Given the description of an element on the screen output the (x, y) to click on. 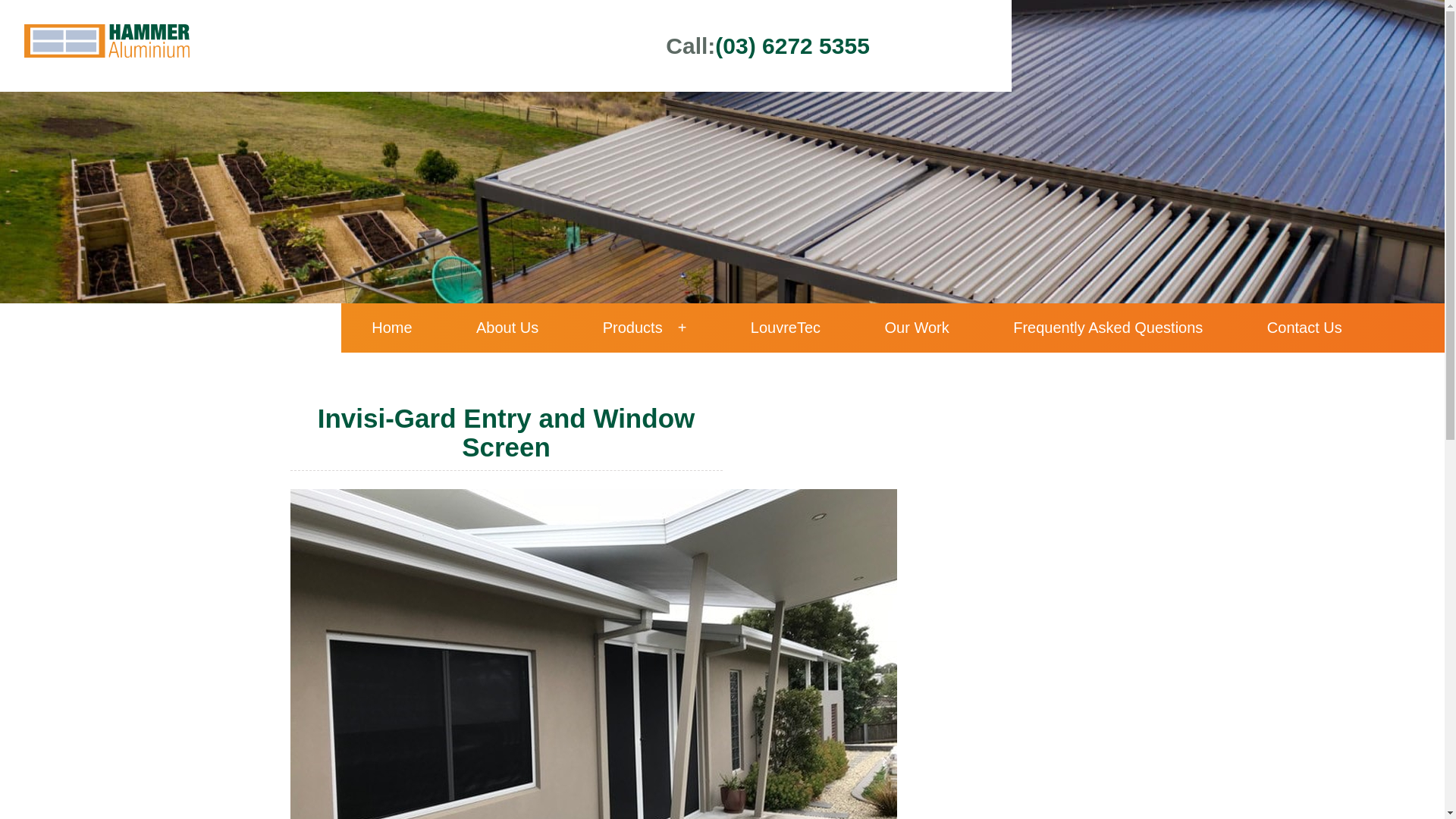
Home Element type: text (391, 327)
LouvreTec Element type: text (785, 327)
Frequently Asked Questions Element type: text (1107, 327)
Our Work Element type: text (916, 327)
Contact Us Element type: text (1304, 327)
Products Element type: text (644, 327)
(03) 6272 5355 Element type: text (792, 45)
About Us Element type: text (506, 327)
